Given the description of an element on the screen output the (x, y) to click on. 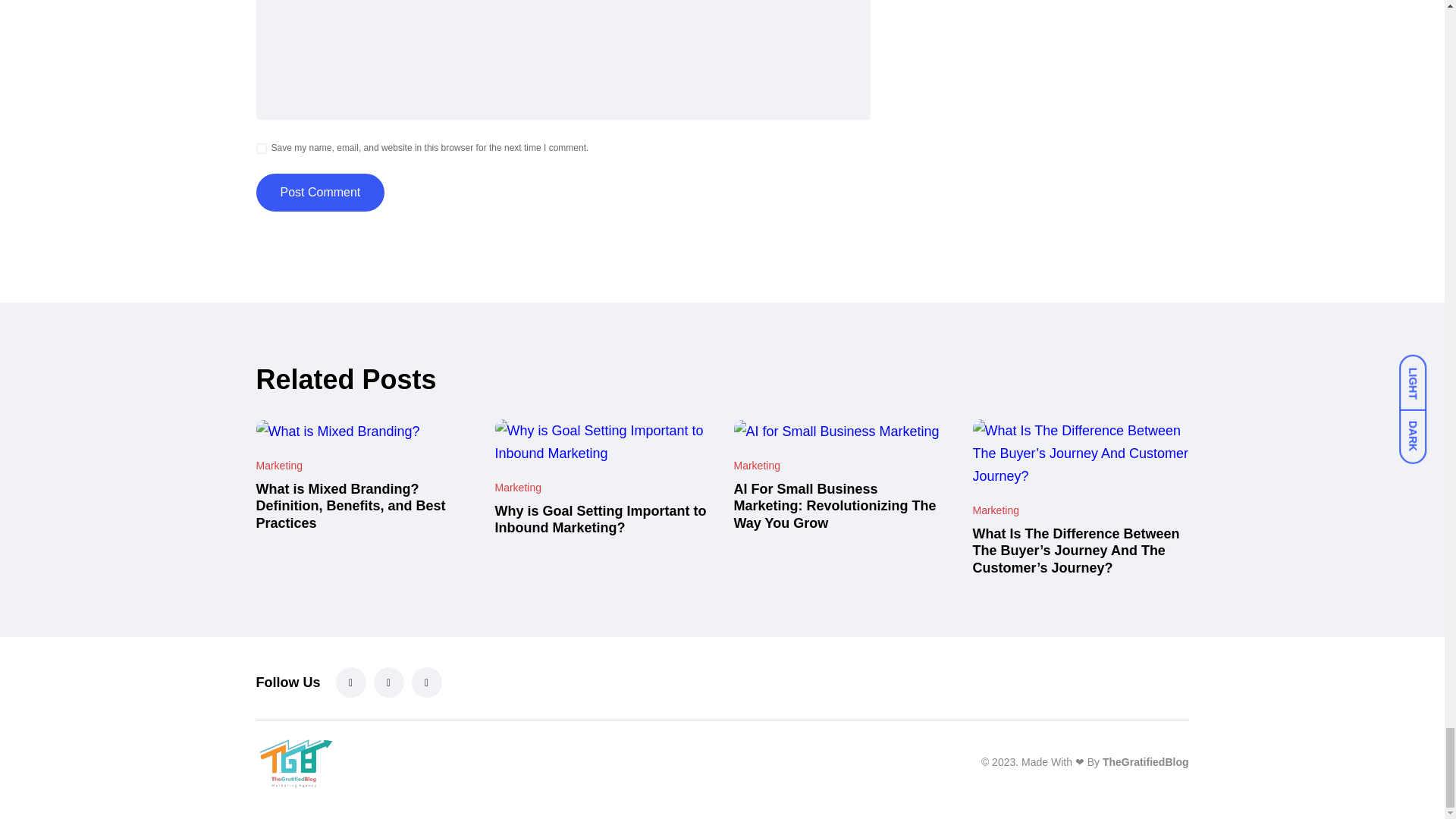
Post Comment (320, 192)
